Given the description of an element on the screen output the (x, y) to click on. 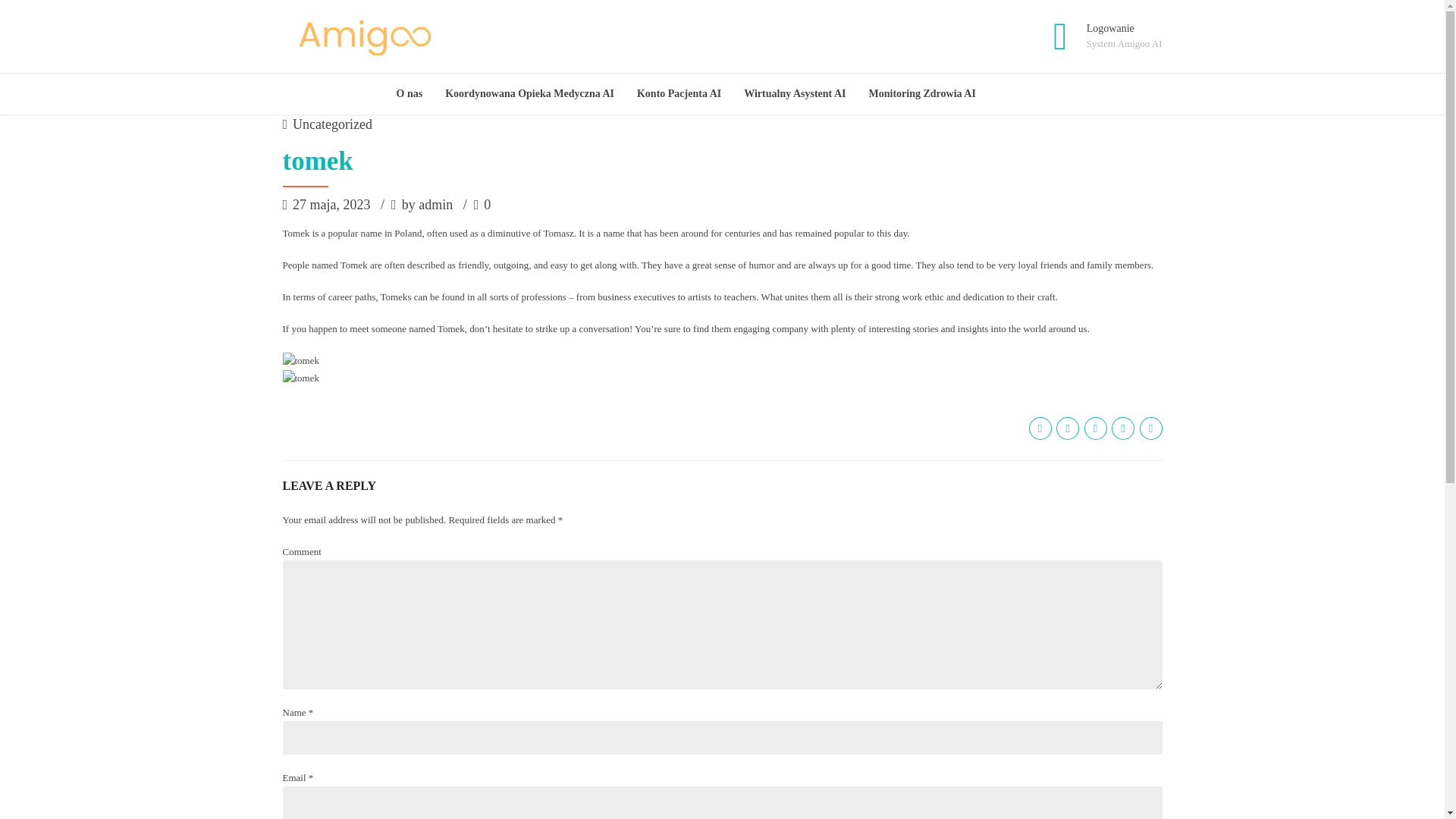
Konto Pacjenta AI (678, 93)
by admin (432, 205)
Wirtualny Asystent AI (794, 93)
Monitoring Zdrowia AI (922, 93)
Uncategorized (332, 124)
Koordynowana Opieka Medyczna AI (1098, 35)
